Given the description of an element on the screen output the (x, y) to click on. 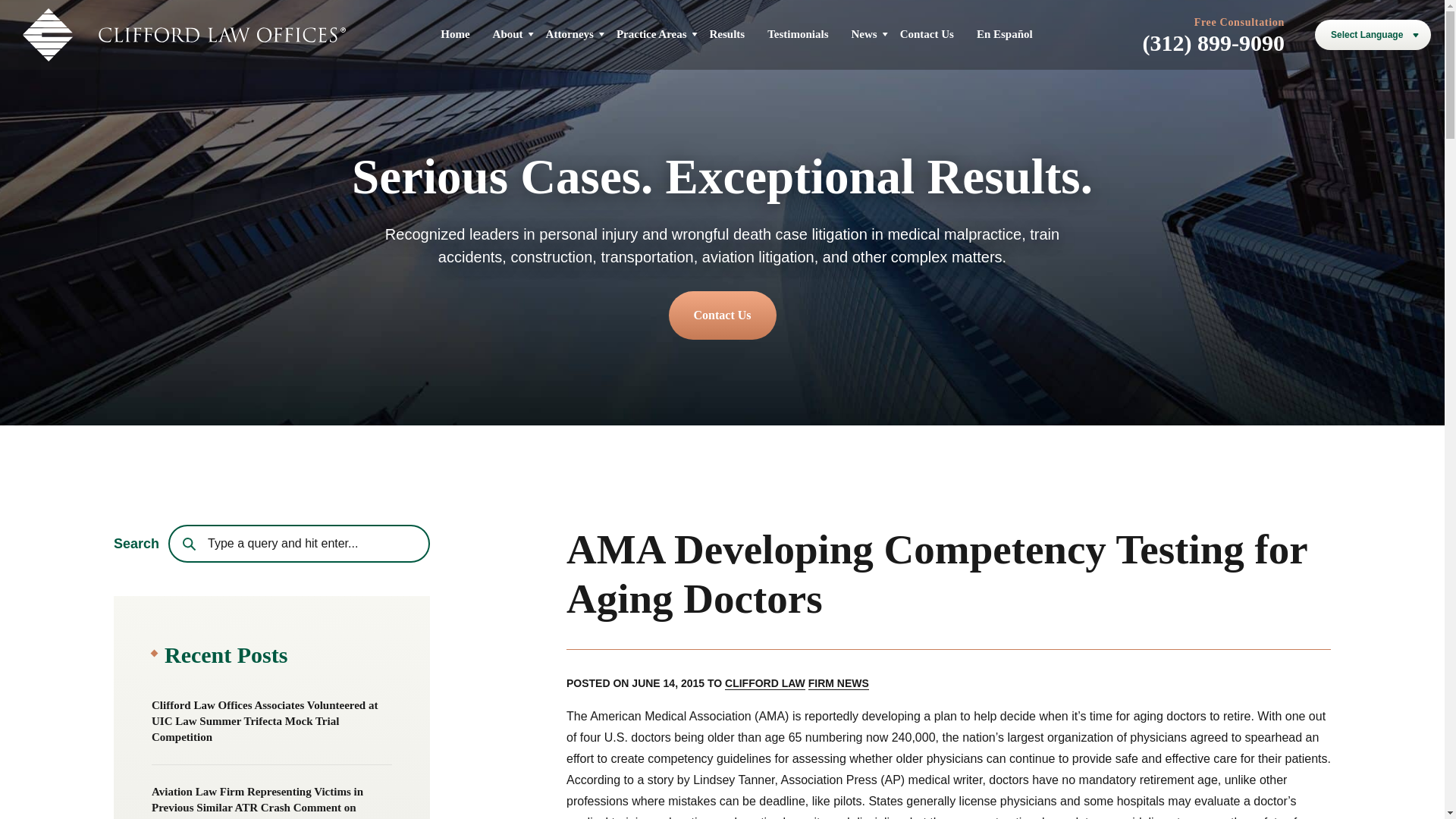
Practice Areas (651, 33)
FIRM NEWS (838, 683)
About (507, 33)
Contact Us (722, 315)
Testimonials (797, 33)
Results (727, 33)
CLIFFORD LAW (765, 683)
News (863, 33)
Contact Us (926, 33)
Attorneys (570, 33)
